Given the description of an element on the screen output the (x, y) to click on. 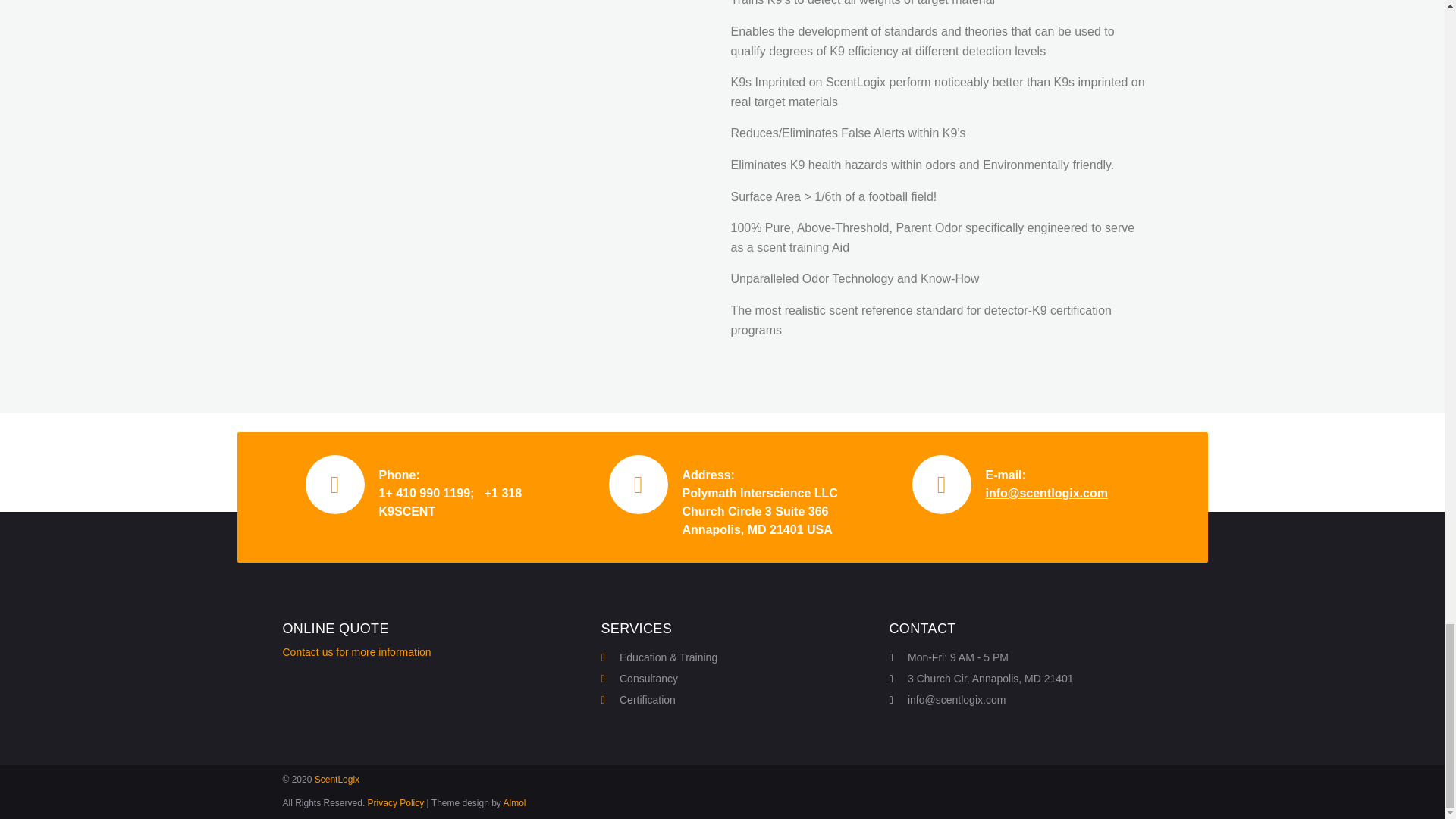
Almol  (515, 802)
ScentLogix (336, 778)
Consultancy (736, 678)
Privacy Policy (396, 802)
Contact us for more information (356, 652)
Certification (736, 700)
3 Church Cir, Annapolis, MD 21401 (1024, 678)
